Given the description of an element on the screen output the (x, y) to click on. 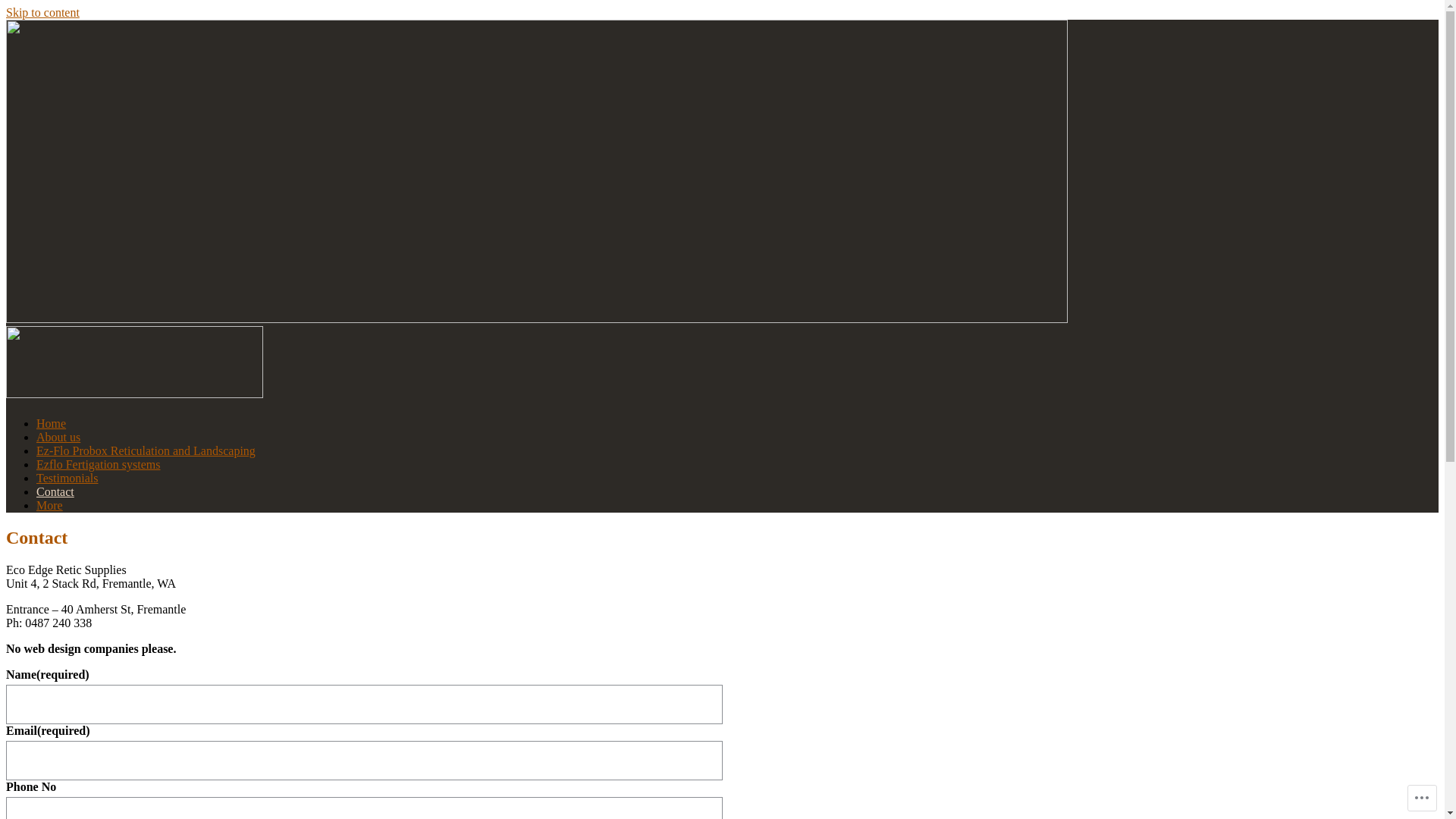
More Element type: text (49, 504)
Skip to content Element type: text (42, 12)
Testimonials Element type: text (67, 477)
Ezflo Fertigation systems Element type: text (98, 464)
Ecoedge Retic Supplies Perth Element type: text (158, 431)
About us Element type: text (58, 436)
Ez-Flo Probox Reticulation and Landscaping Element type: text (145, 450)
Home Element type: text (50, 423)
Contact Element type: text (55, 491)
